Given the description of an element on the screen output the (x, y) to click on. 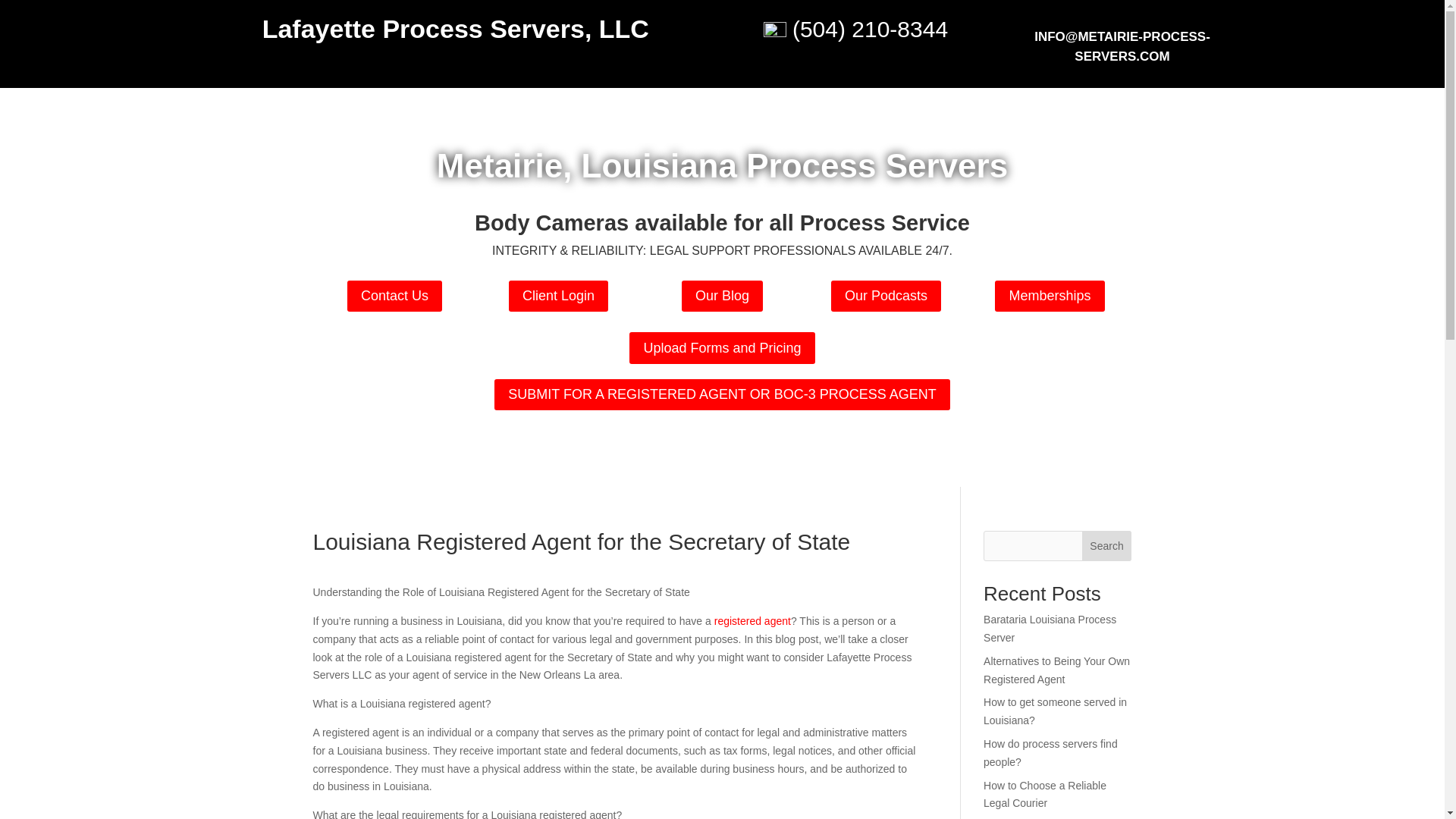
Lafayette Process Servers, LLC (455, 28)
Client Login (558, 296)
Upload Forms and Pricing (720, 347)
Contact Us (394, 296)
Memberships (1048, 296)
Our Podcasts (885, 296)
Barataria Louisiana Process Server (1050, 628)
How do process servers find people? (1051, 752)
Alternatives to Being Your Own Registered Agent (1056, 670)
Search (1106, 545)
How to get someone served in Louisiana? (1055, 711)
Our Blog (721, 296)
registered agent (752, 621)
How to Choose a Reliable Legal Courier (1045, 794)
SUBMIT FOR A REGISTERED AGENT OR BOC-3 PROCESS AGENT (722, 394)
